Given the description of an element on the screen output the (x, y) to click on. 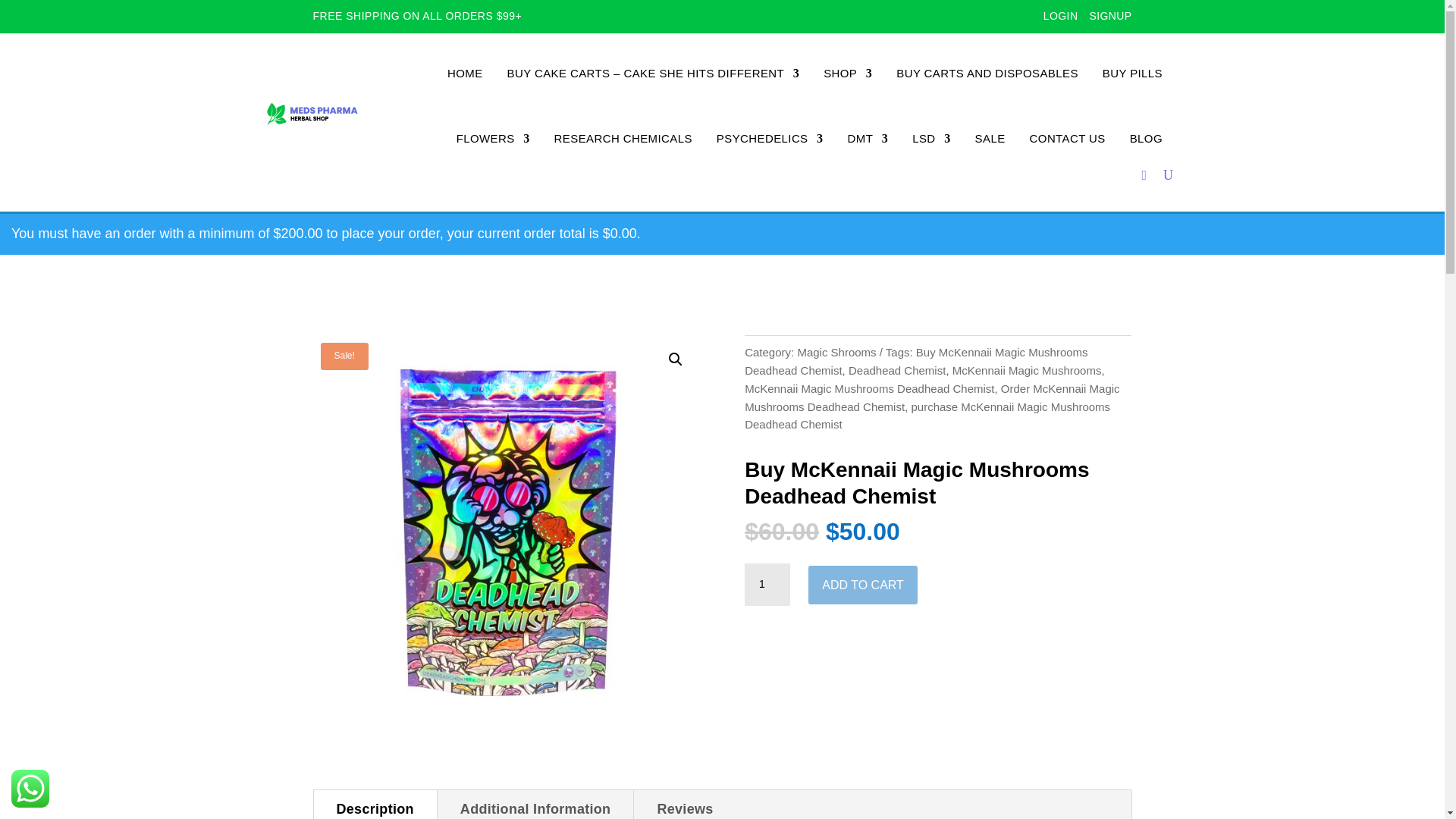
FLOWERS (493, 138)
1 (767, 584)
BUY CARTS AND DISPOSABLES (987, 73)
PSYCHEDELICS (770, 138)
BUY PILLS (1131, 73)
SIGNUP (1110, 16)
RESEARCH CHEMICALS (623, 138)
LOGIN (1060, 16)
